Given the description of an element on the screen output the (x, y) to click on. 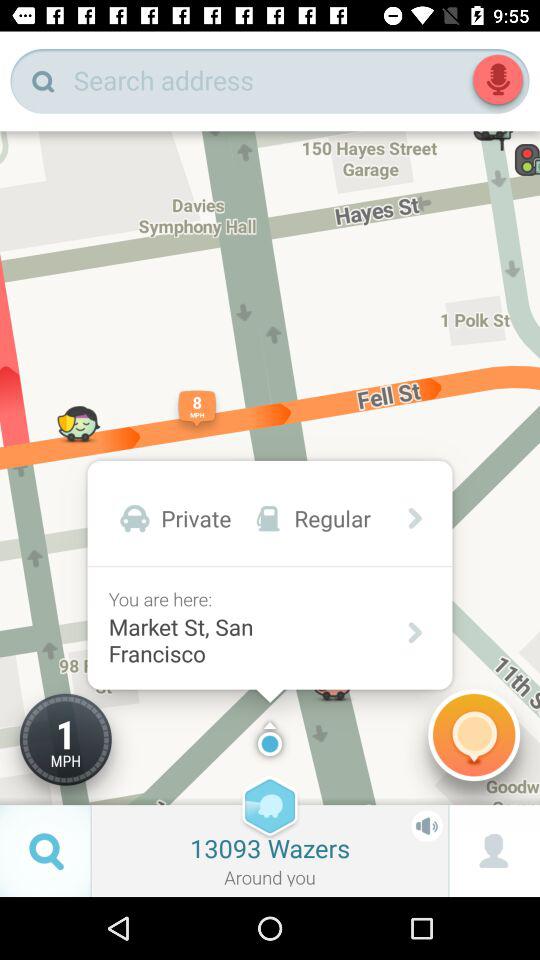
select next option which is beside market stsan francisco (412, 632)
